Given the description of an element on the screen output the (x, y) to click on. 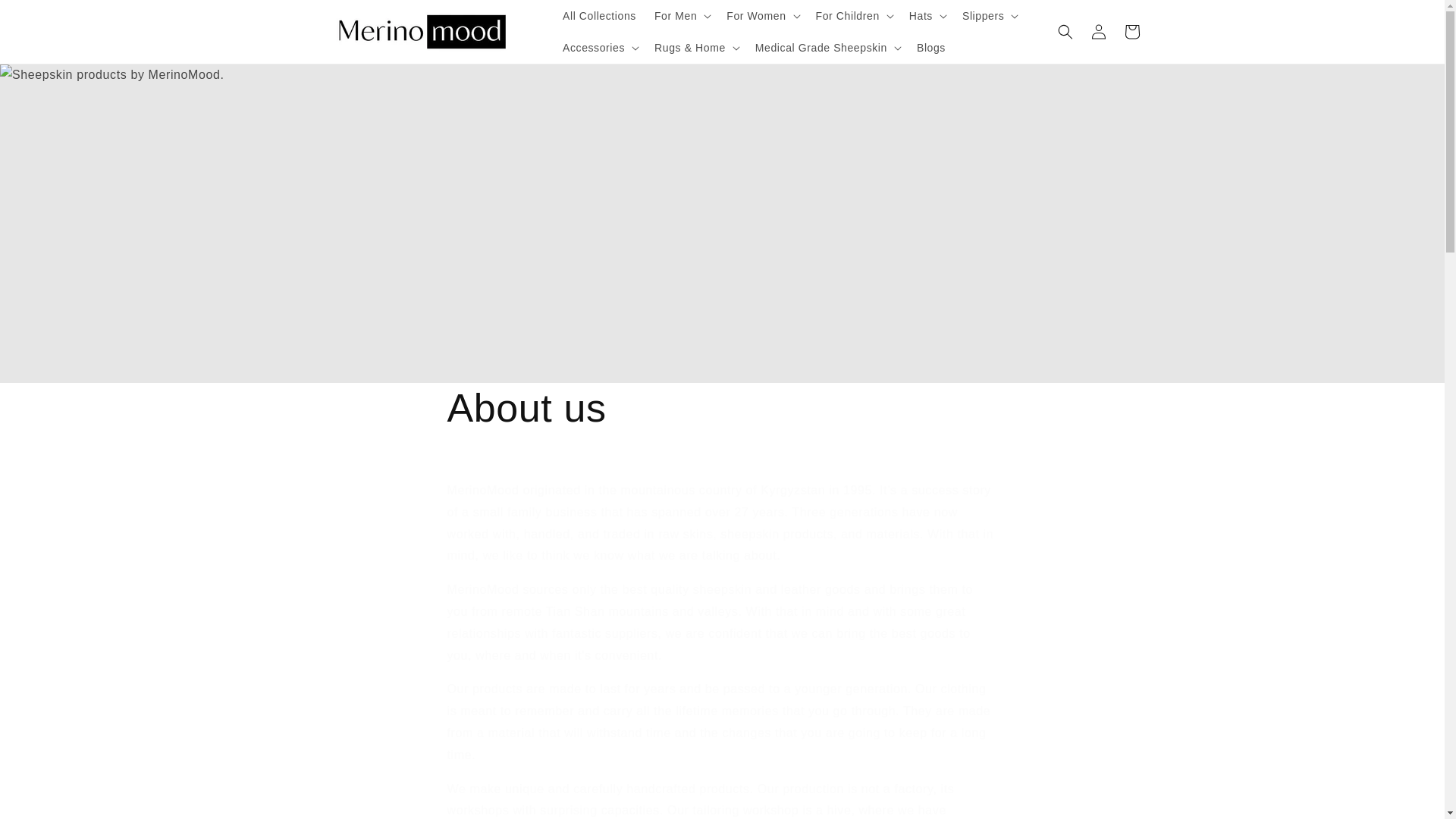
About us (721, 408)
Skip to content (45, 17)
